Given the description of an element on the screen output the (x, y) to click on. 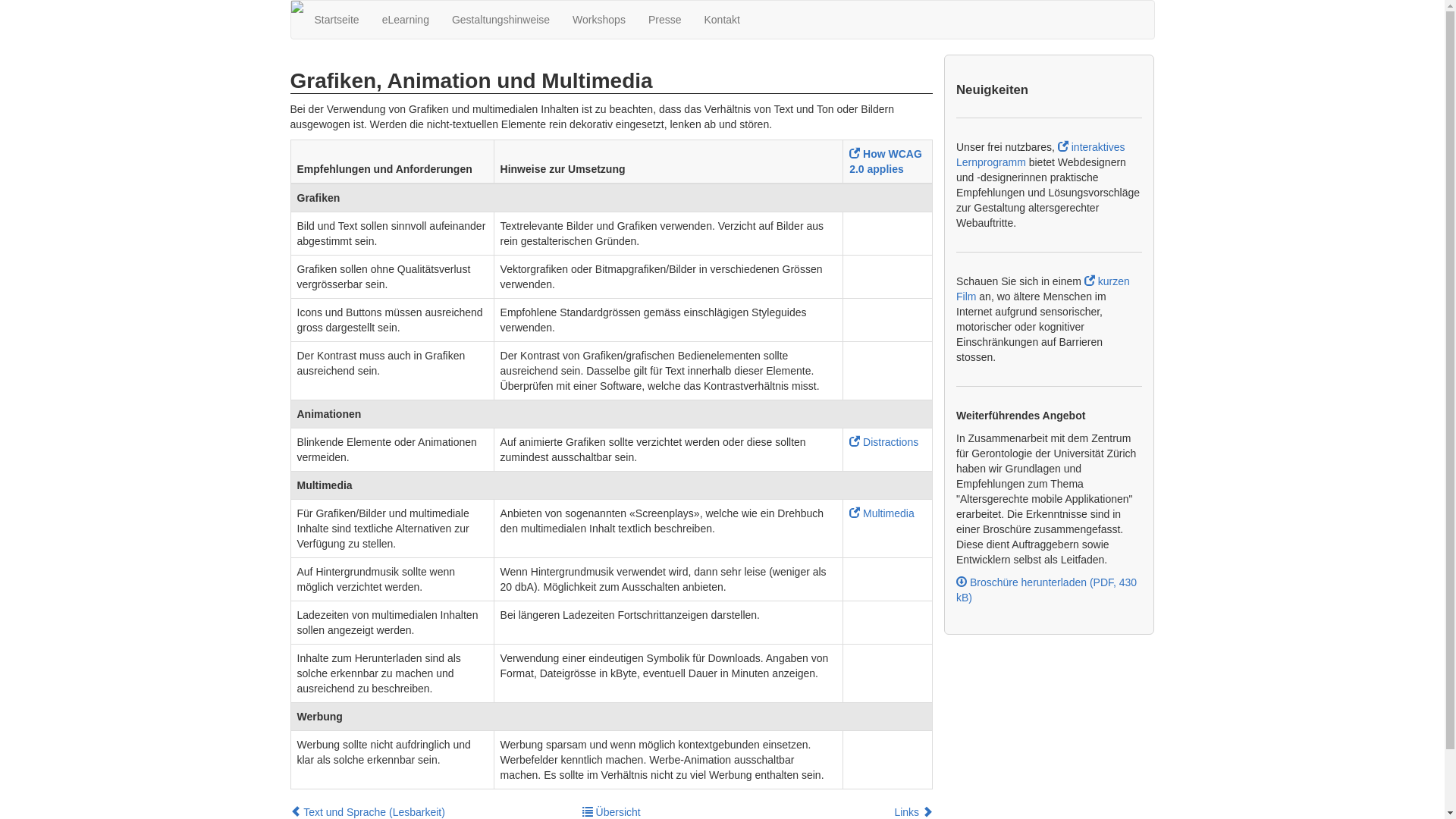
Startseite Element type: text (336, 19)
Presse Element type: text (665, 19)
Text und Sprache (Lesbarkeit) Element type: text (366, 812)
kurzen Film Element type: text (1042, 288)
Links Element type: text (913, 812)
interaktives Lernprogramm Element type: text (1040, 154)
Kontakt Element type: text (721, 19)
eLearning Element type: text (405, 19)
Multimedia Element type: text (881, 513)
Distractions Element type: text (883, 442)
How WCAG 2.0 applies Element type: text (885, 161)
Gestaltungshinweise Element type: text (500, 19)
Workshops Element type: text (599, 19)
